Given the description of an element on the screen output the (x, y) to click on. 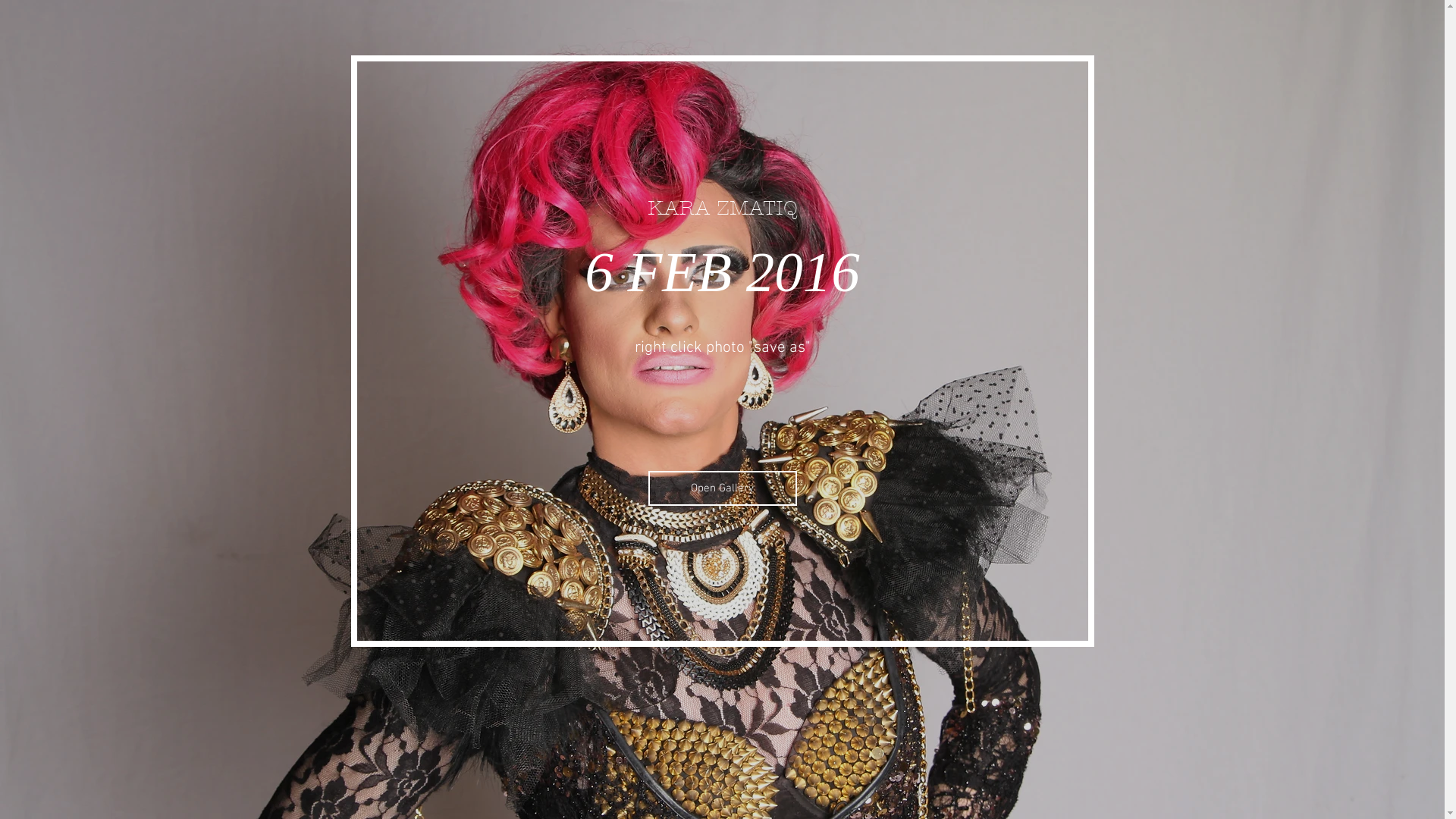
Embedded Content Element type: hover (88, 574)
Open Gallery Element type: text (721, 487)
KARA ZMATIQ Element type: text (722, 207)
